Given the description of an element on the screen output the (x, y) to click on. 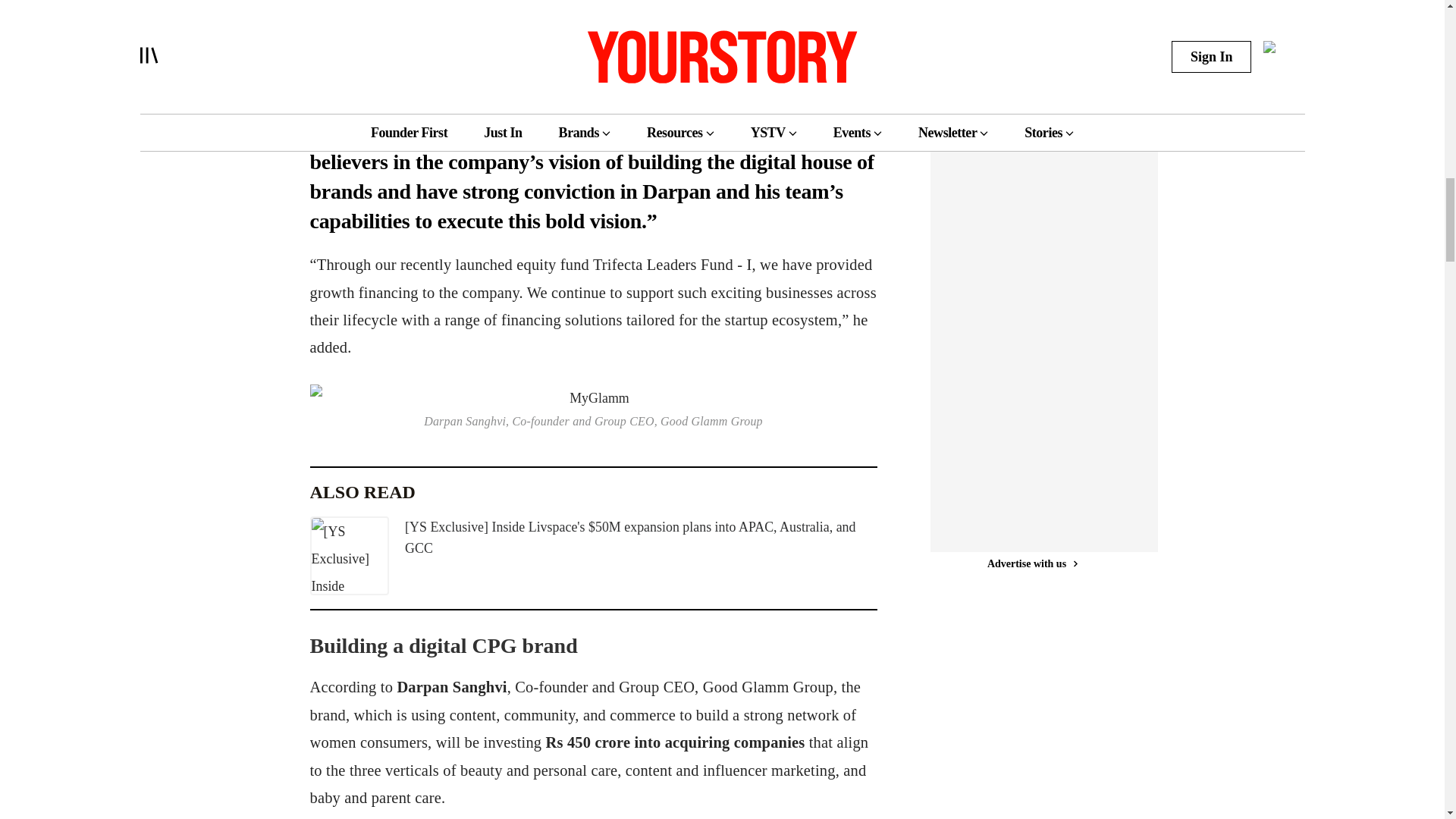
The Challenge Of Knowing Yourself: Insights From Thales (1012, 15)
Advertise with us (1032, 57)
Advertise with us (1032, 544)
